Given the description of an element on the screen output the (x, y) to click on. 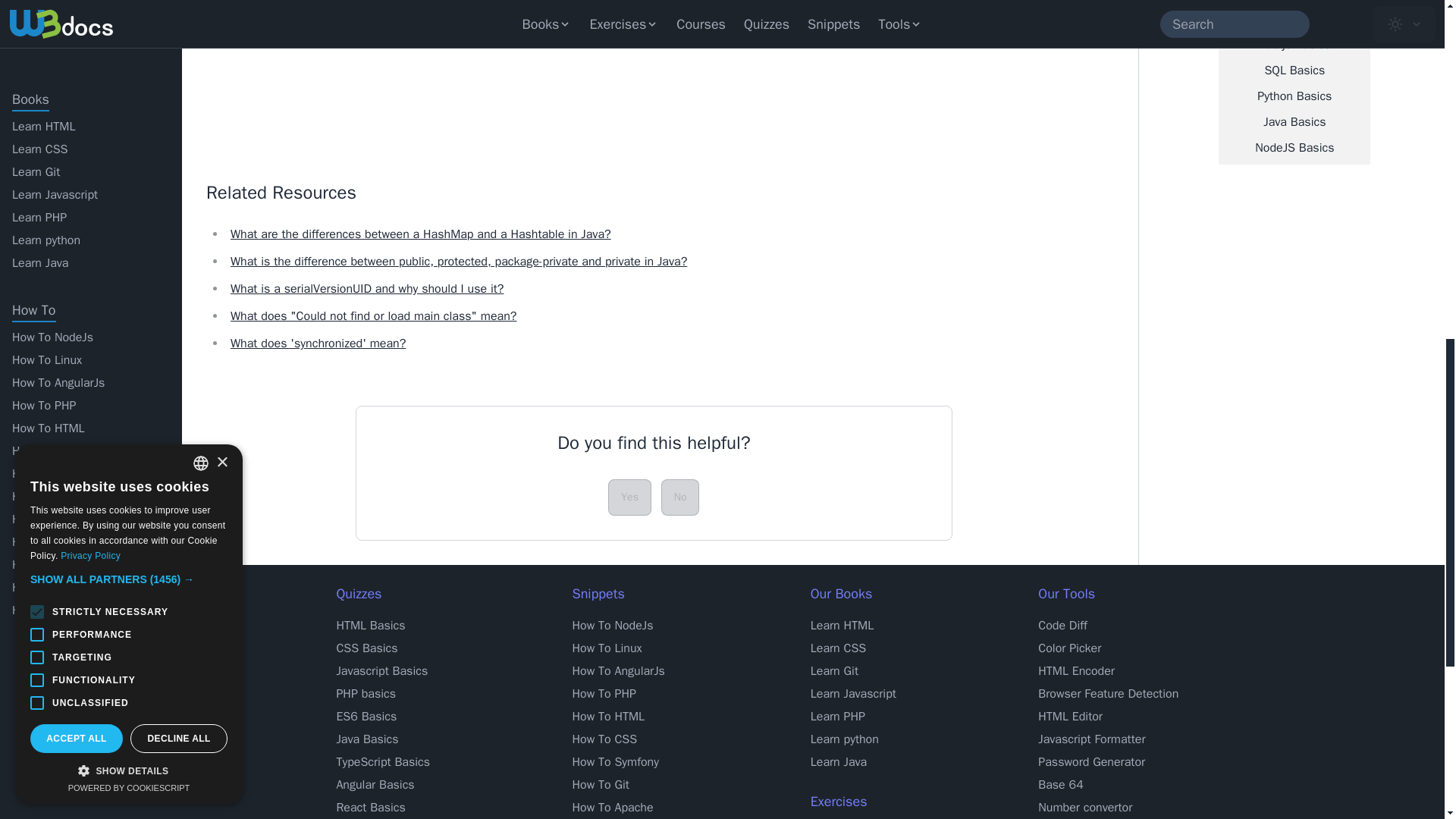
Related Resources (654, 192)
3rd party ad content (319, 39)
